Given the description of an element on the screen output the (x, y) to click on. 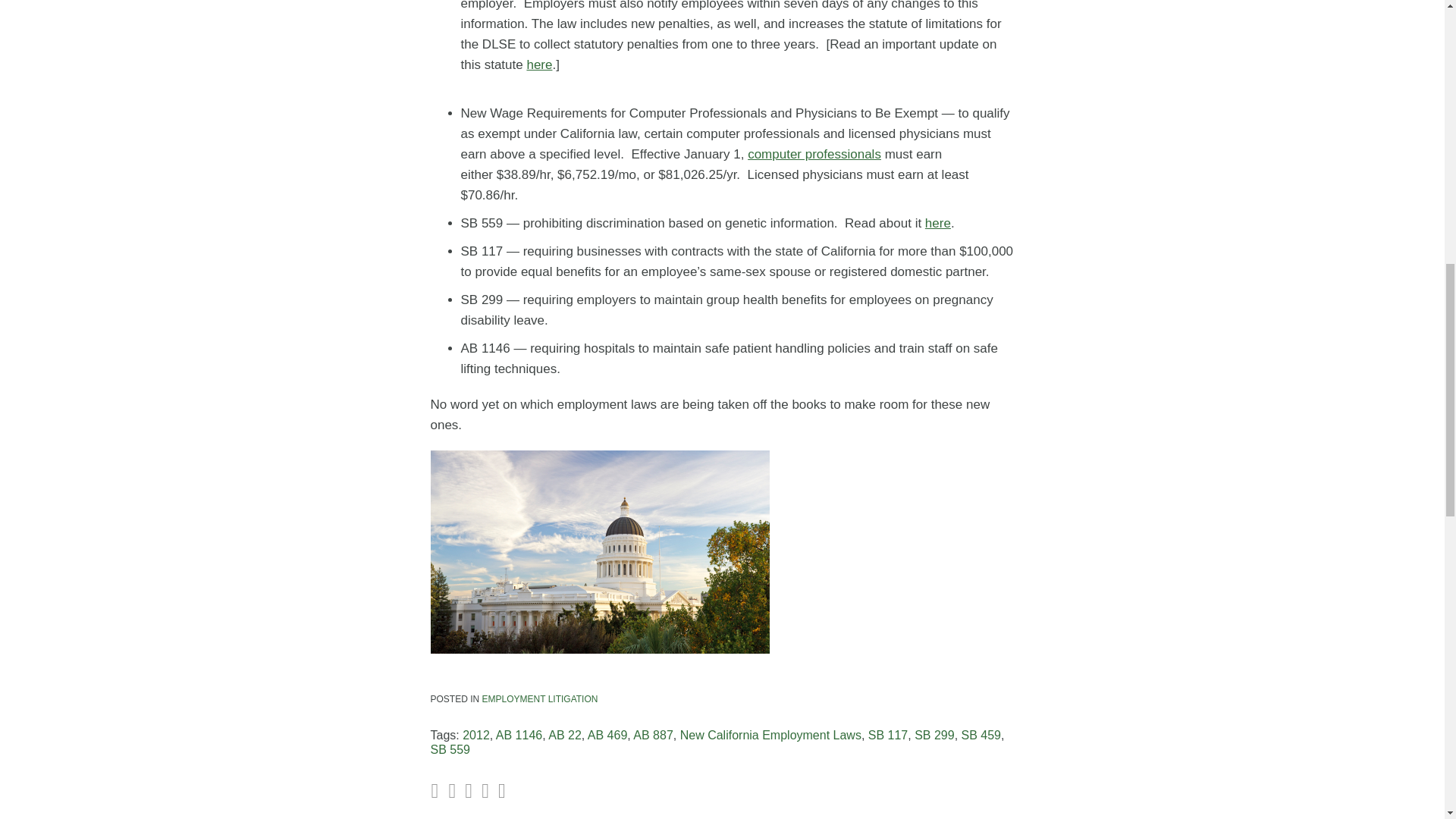
AB 1146 (518, 735)
AB 887 (652, 735)
SB 459 (980, 735)
here (937, 223)
SB 299 (933, 735)
SB 117 (887, 735)
here (538, 64)
EMPLOYMENT LITIGATION (539, 698)
AB 469 (607, 735)
AB 22 (564, 735)
